Given the description of an element on the screen output the (x, y) to click on. 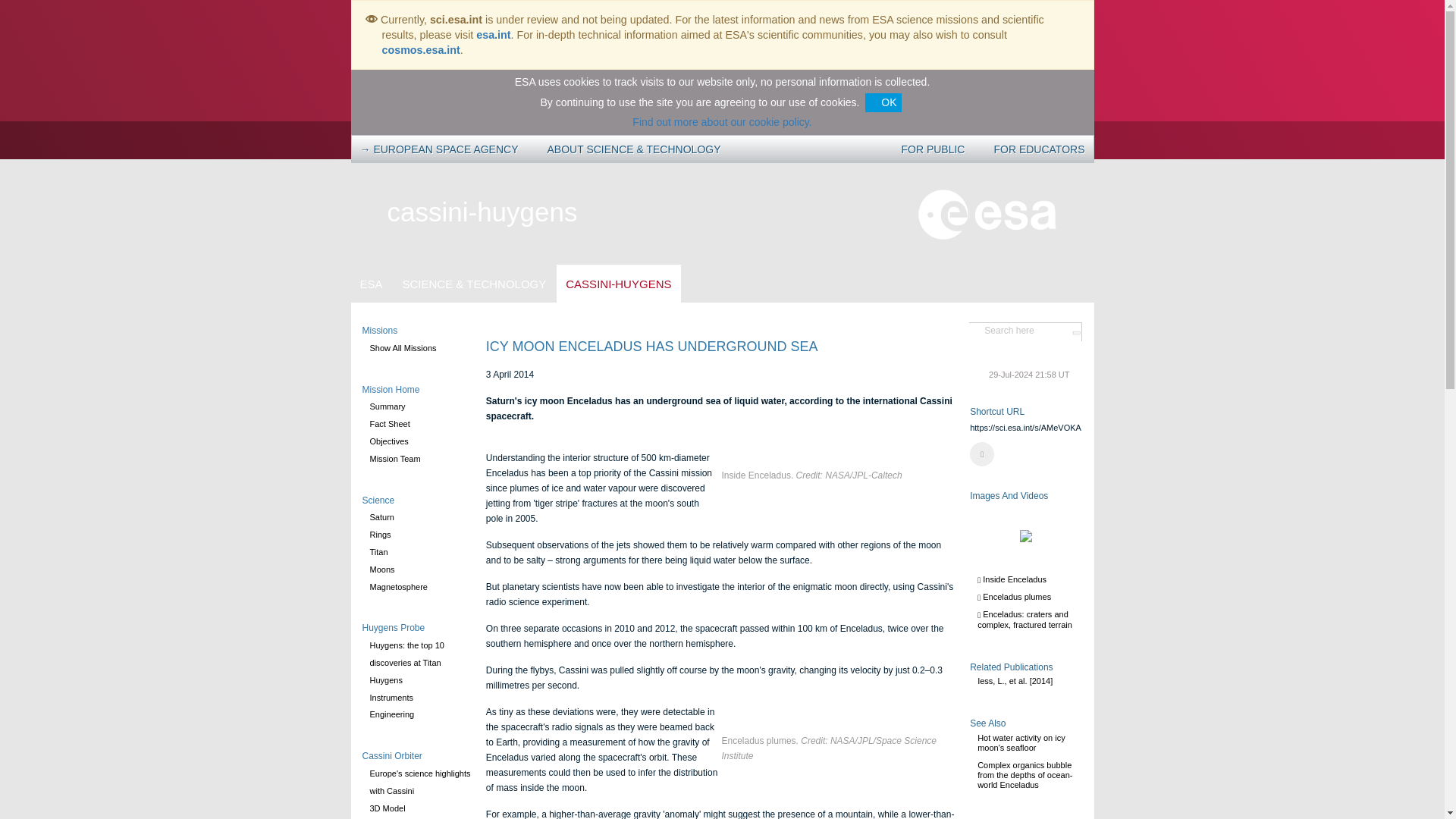
esa.int (493, 34)
cosmos.esa.int (420, 50)
